Given the description of an element on the screen output the (x, y) to click on. 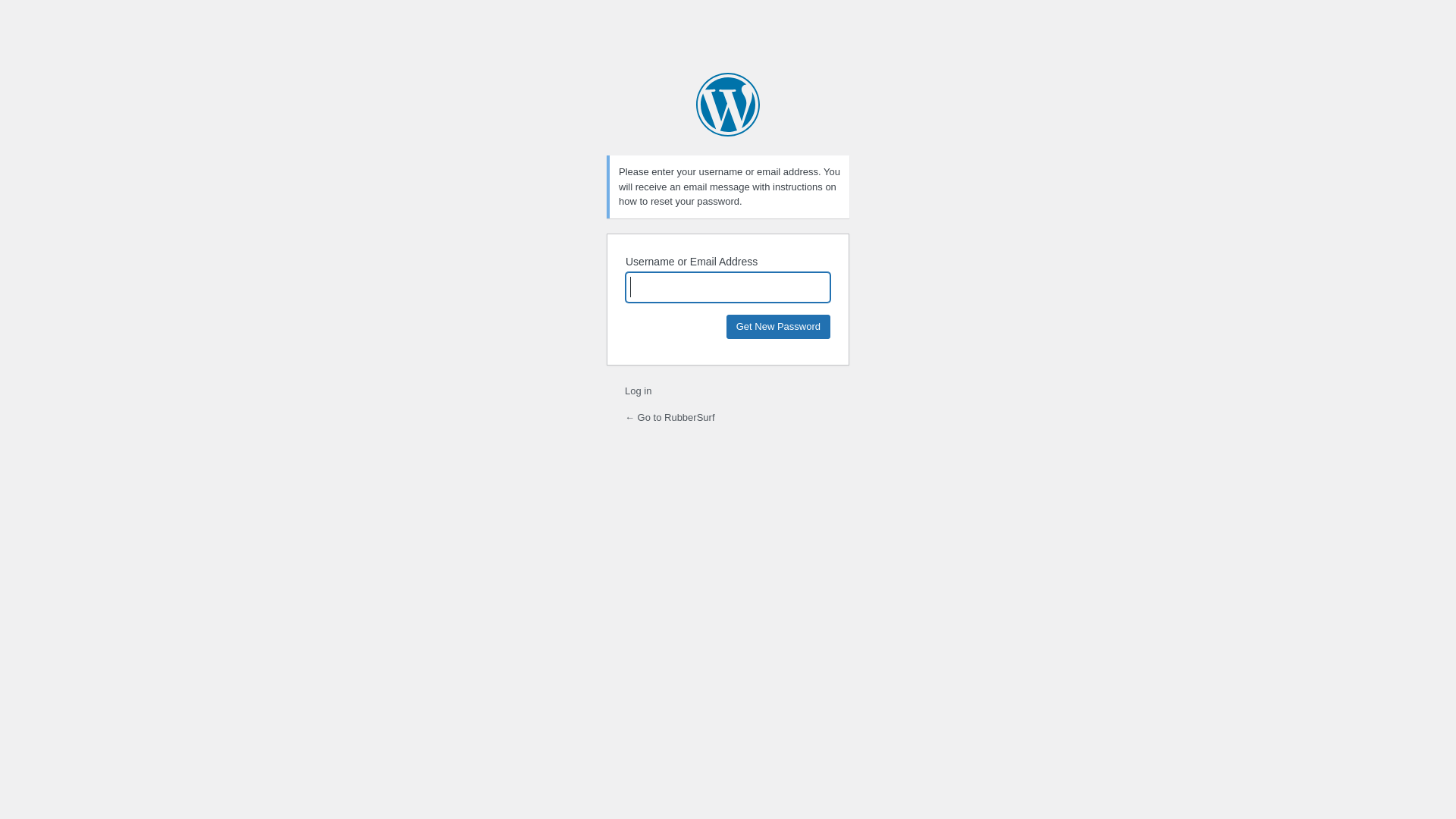
Powered by WordPress Element type: text (727, 104)
Log in Element type: text (637, 390)
Get New Password Element type: text (778, 325)
